Given the description of an element on the screen output the (x, y) to click on. 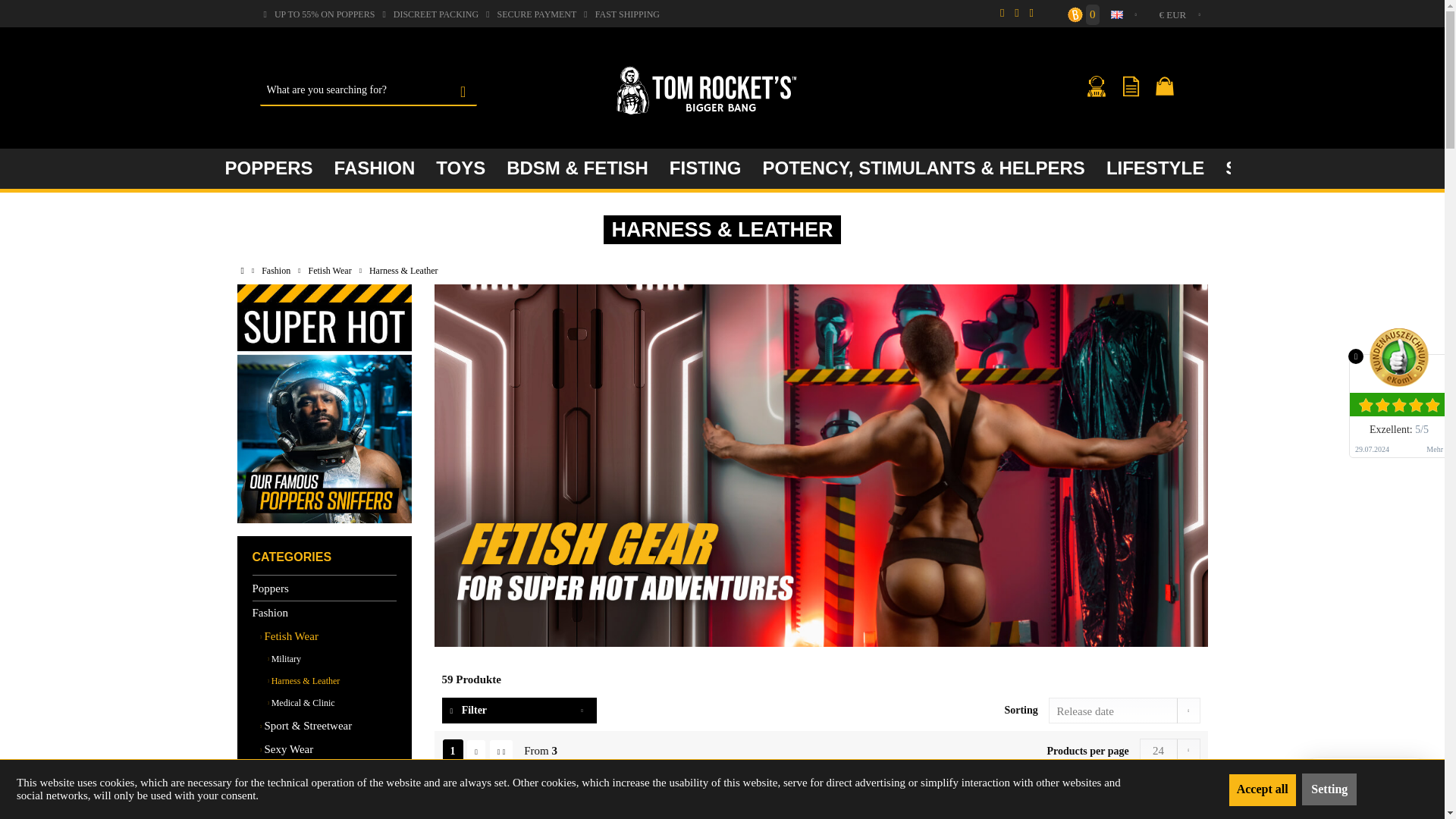
FISTING (705, 168)
POPPERS (268, 168)
FASHION (374, 168)
Tom Rocket's - Switch to homepage (706, 90)
zum Facebook Profil von Tom Rockets (1001, 12)
Poppers (268, 168)
TOYS (460, 168)
FISTING (705, 168)
Fashion (374, 168)
Toys (460, 168)
FASHION (374, 168)
Lifestyle (1155, 168)
Fisting (705, 168)
Wishlist (1134, 91)
TOYS (460, 168)
